Given the description of an element on the screen output the (x, y) to click on. 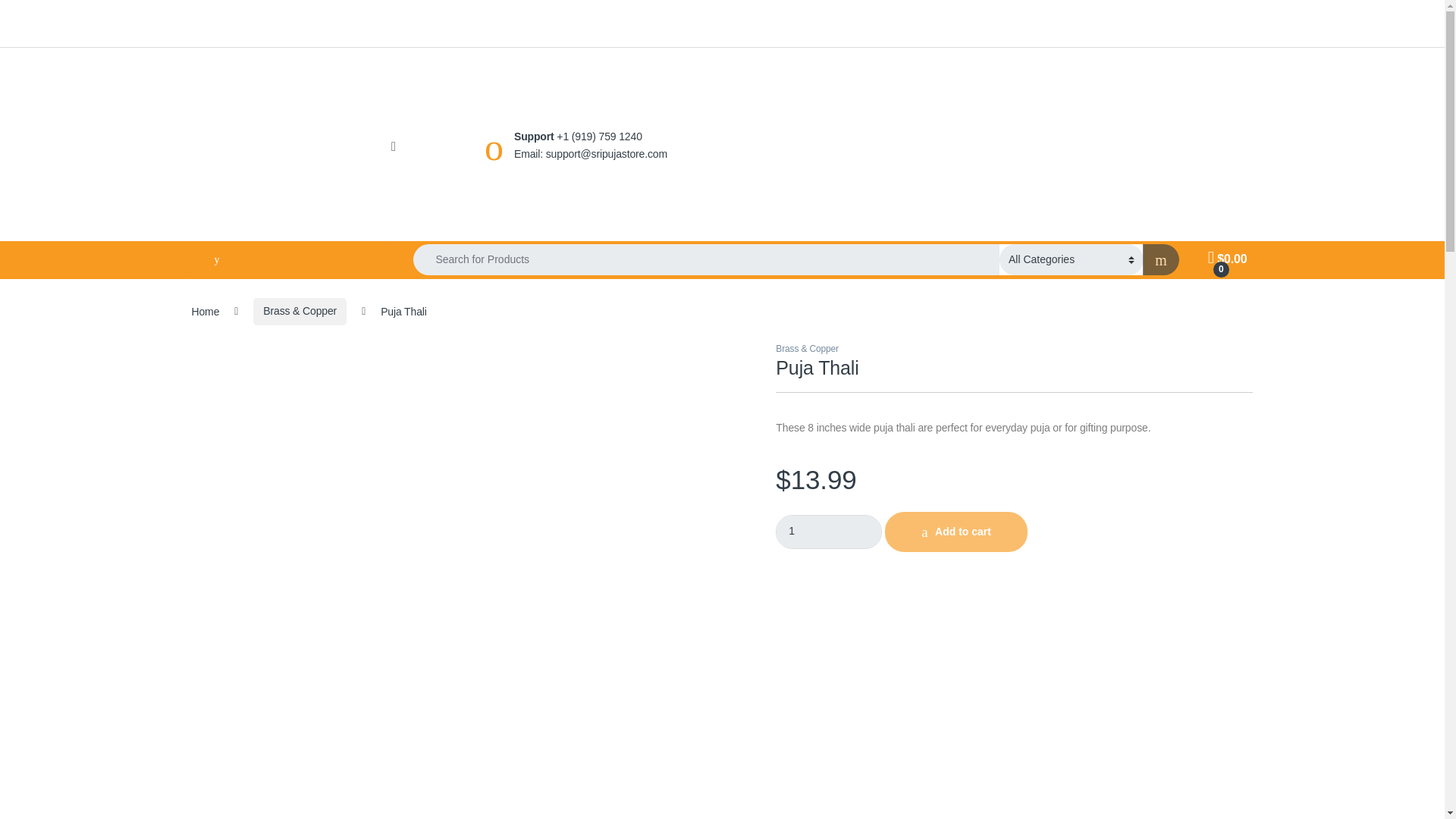
Add to cart (956, 531)
Qty (829, 531)
Home (204, 310)
1 (829, 531)
